Given the description of an element on the screen output the (x, y) to click on. 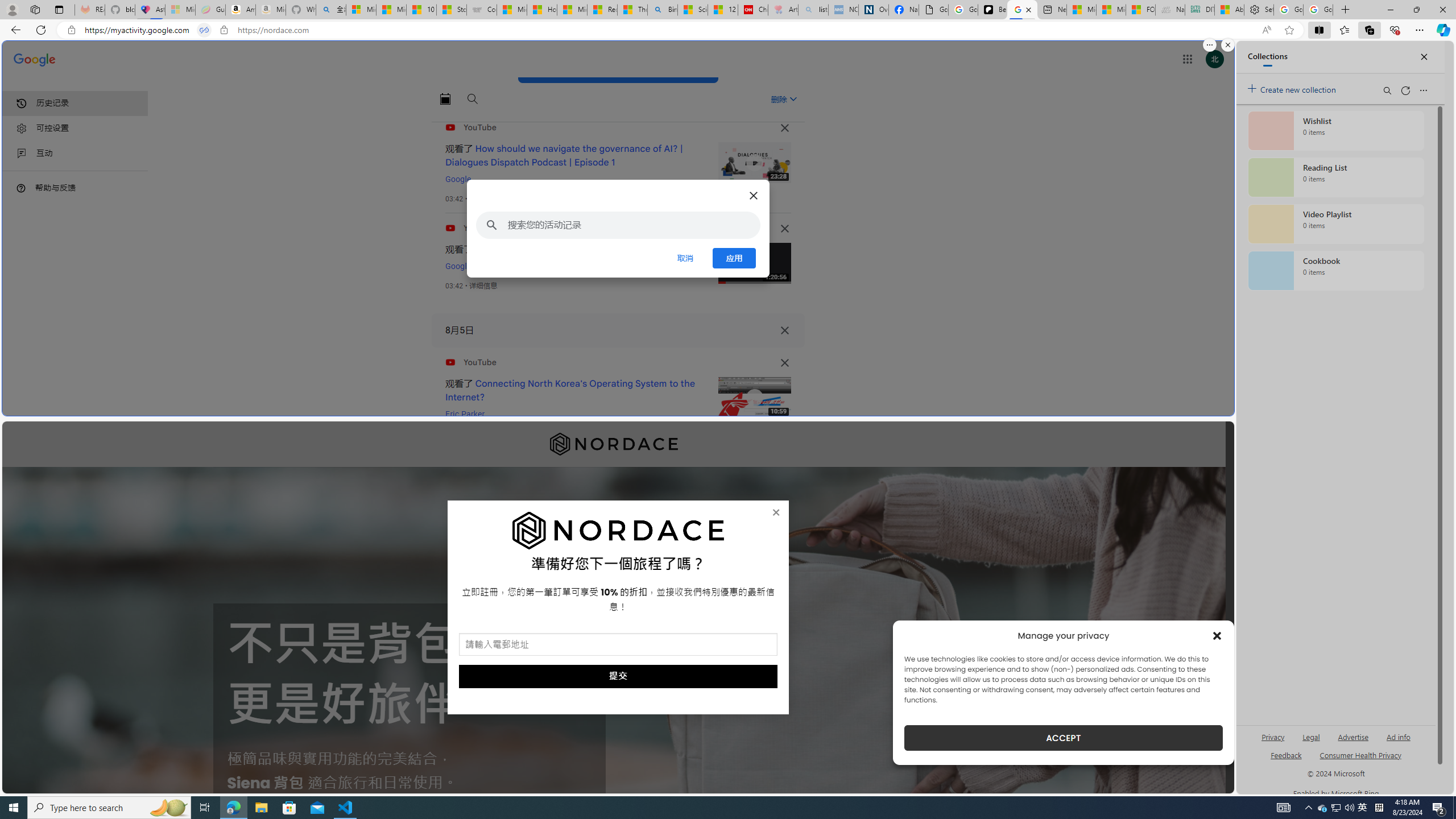
Be Smart | creating Science videos | Patreon (991, 9)
Aberdeen, Hong Kong SAR hourly forecast | Microsoft Weather (1229, 9)
